Given the description of an element on the screen output the (x, y) to click on. 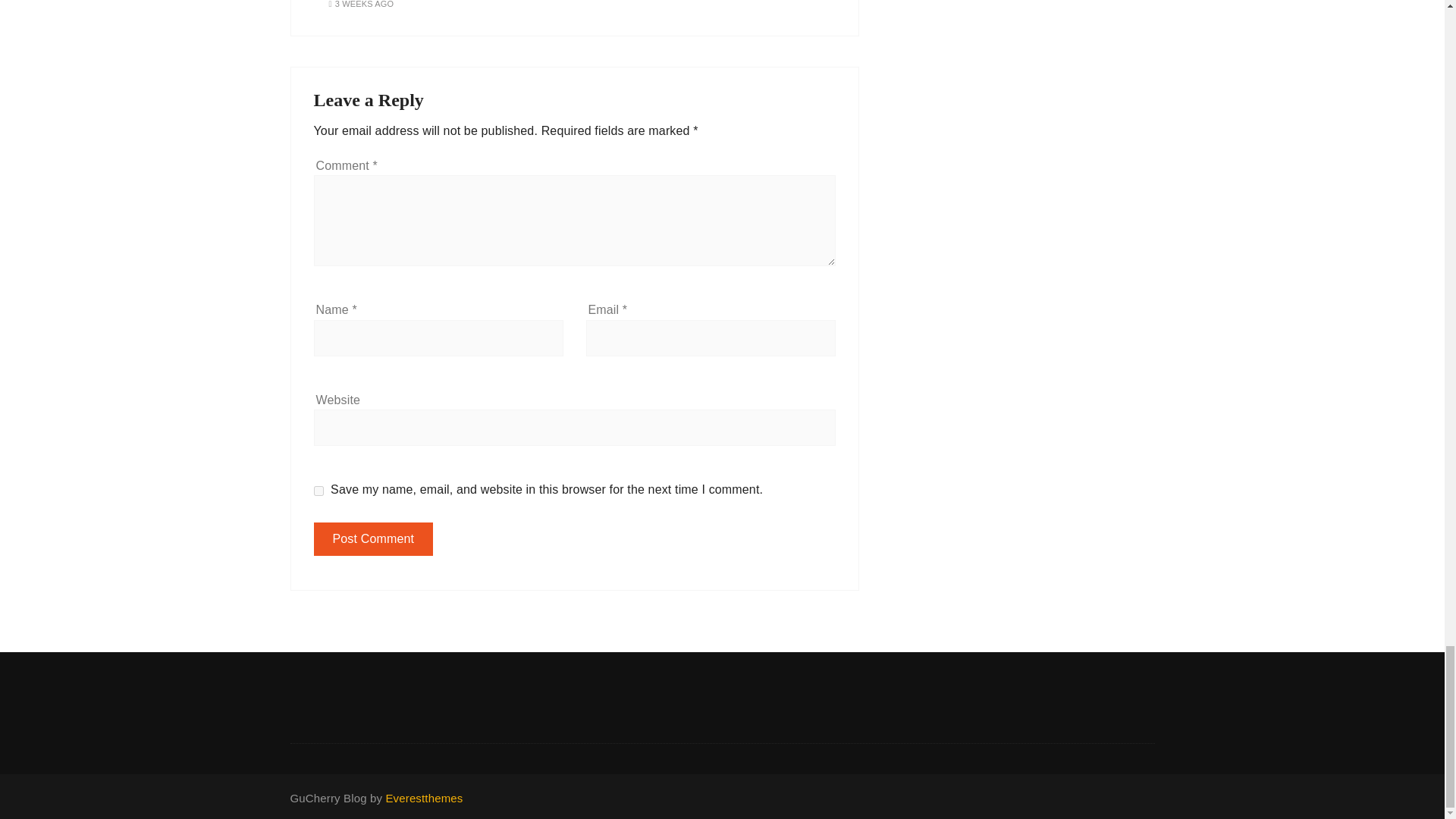
Post Comment (373, 539)
yes (318, 491)
Post Comment (373, 539)
Everestthemes (424, 797)
